Given the description of an element on the screen output the (x, y) to click on. 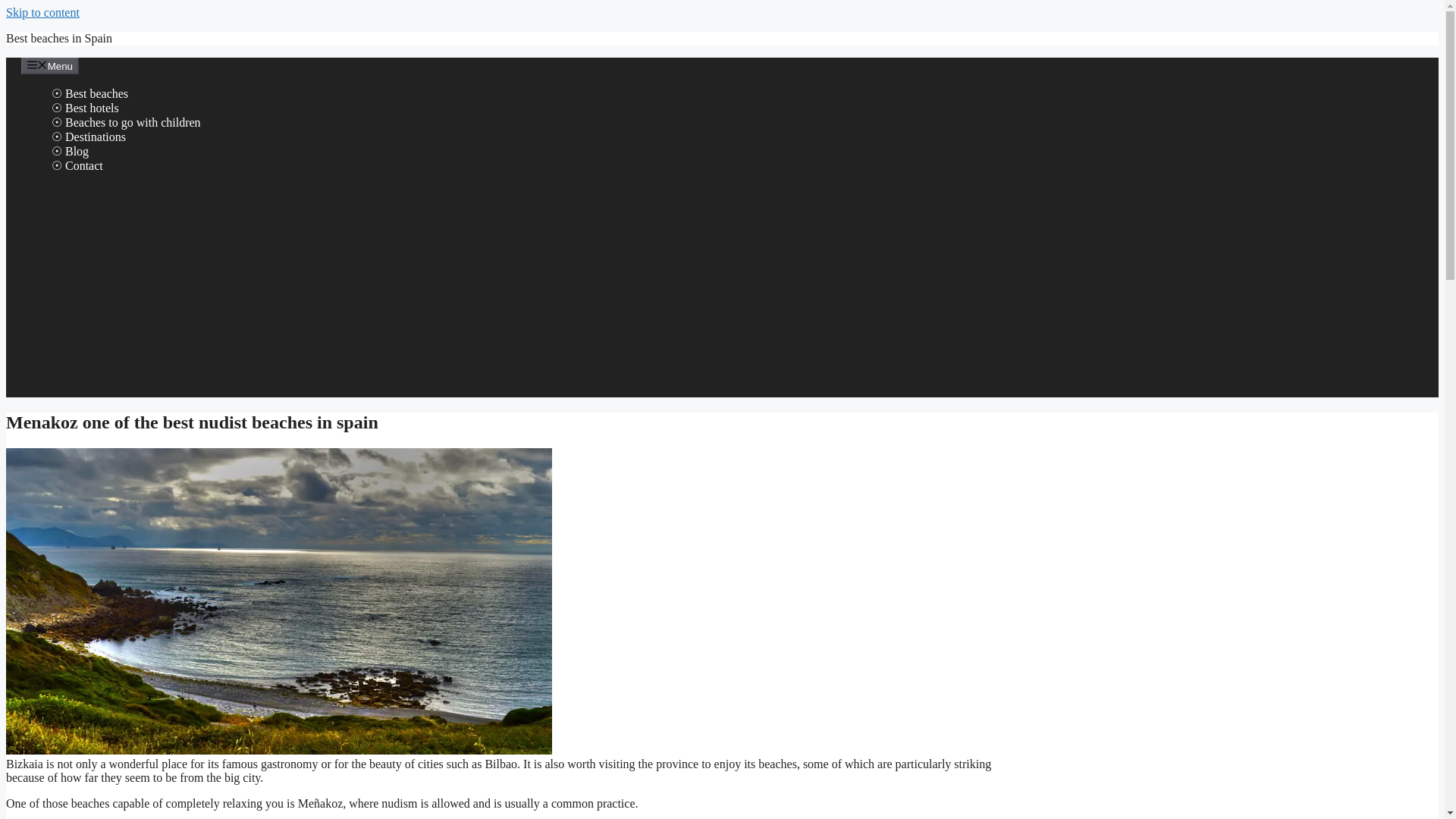
Skip to content (42, 11)
Skip to content (42, 11)
Menu (49, 65)
Best beaches in Spain (58, 38)
